Given the description of an element on the screen output the (x, y) to click on. 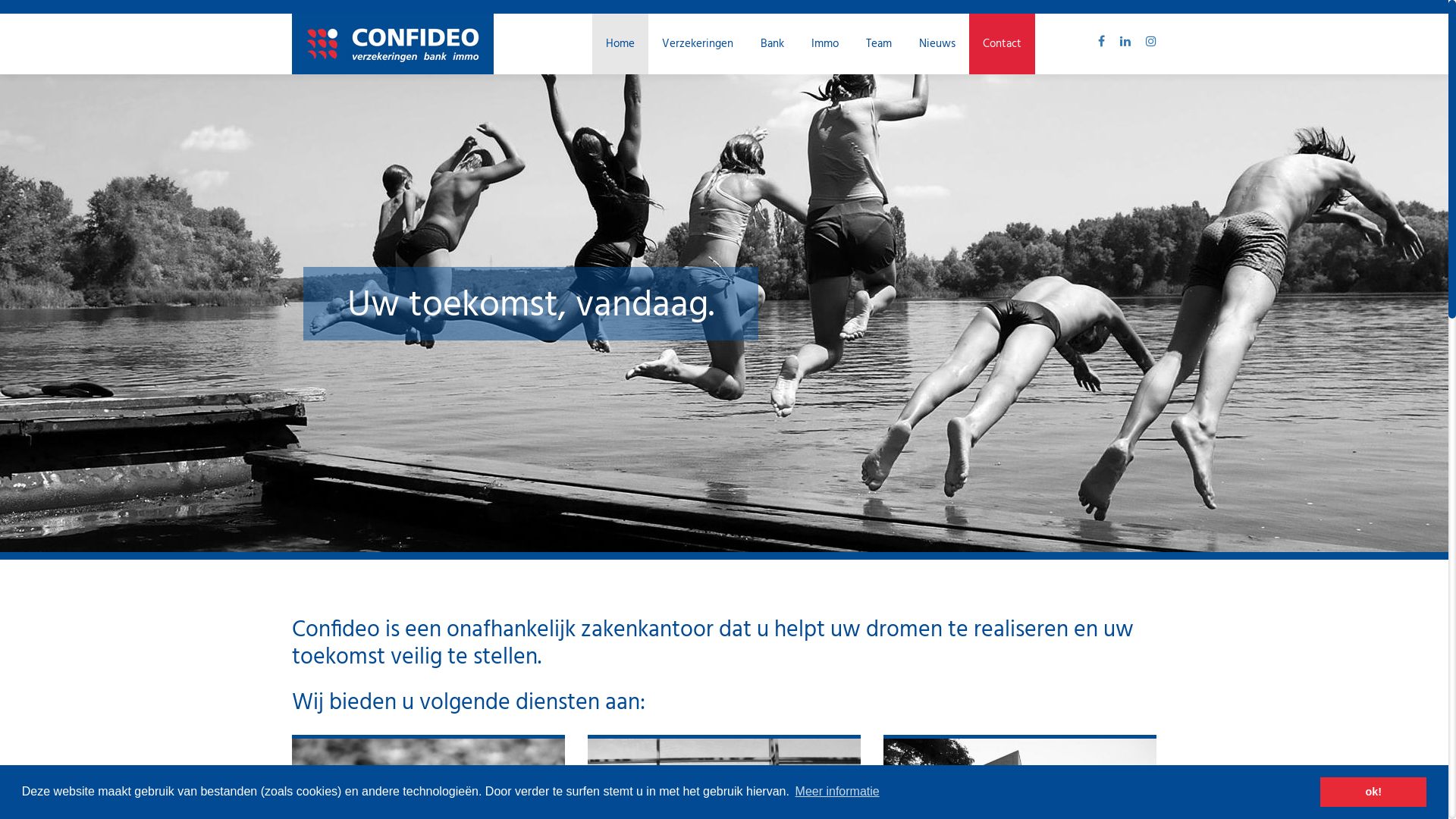
Home Element type: text (620, 43)
Meer informatie Element type: text (836, 791)
ok! Element type: text (1373, 791)
Nieuws Element type: text (937, 43)
Contact Element type: text (1002, 43)
Bank Element type: text (771, 43)
Team Element type: text (878, 43)
Immo Element type: text (824, 43)
Verzekeringen Element type: text (697, 43)
